Given the description of an element on the screen output the (x, y) to click on. 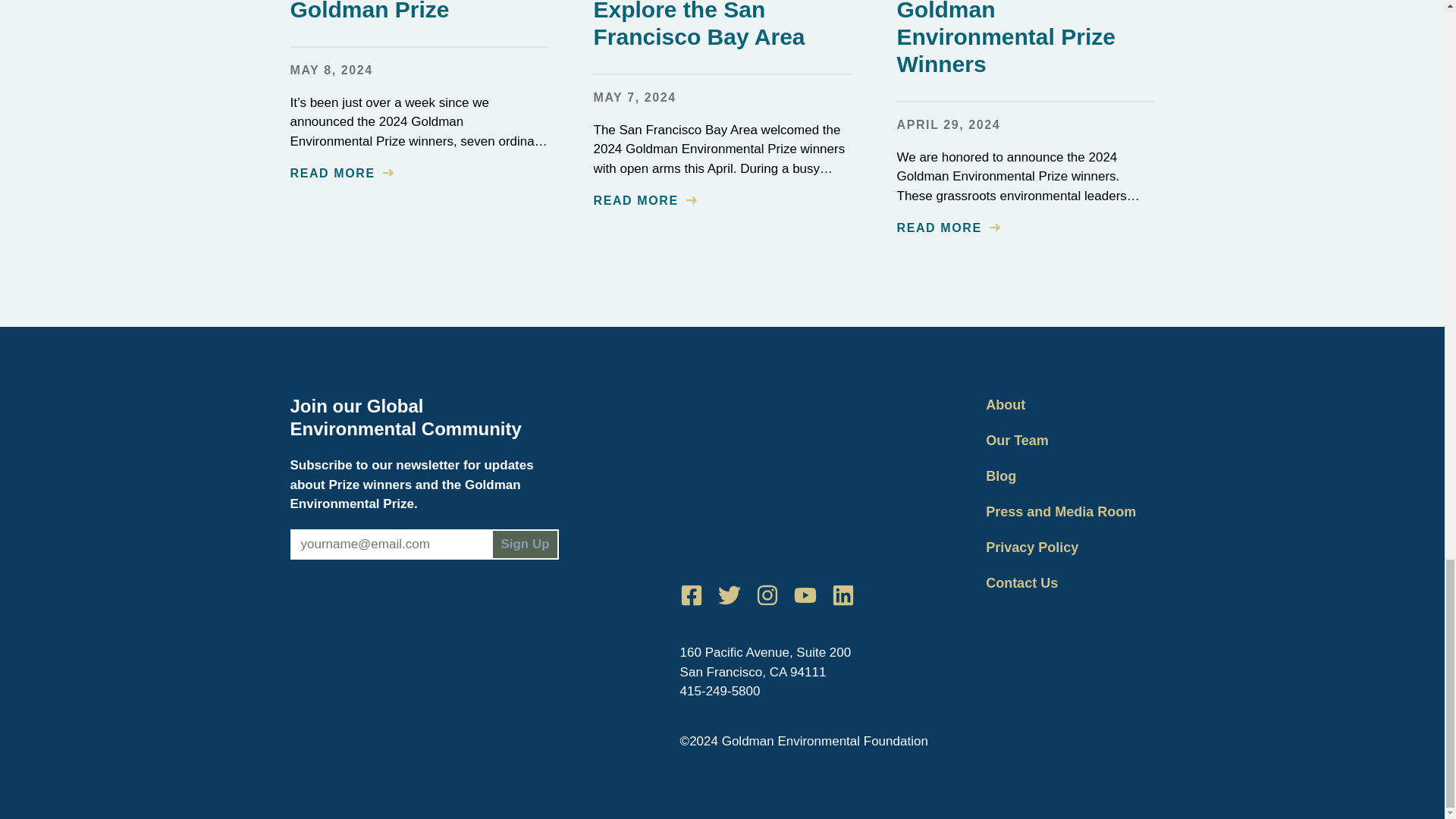
READ MORE (643, 200)
Introducing the 2024 Goldman Environmental Prize Winners (1007, 38)
Sign Up (524, 543)
READ MORE (341, 173)
Goldman Prize Winners Explore the San Francisco Bay Area (719, 24)
Reflecting on the 2024 Goldman Prize (410, 11)
Sign Up (524, 543)
READ MORE (947, 227)
